Given the description of an element on the screen output the (x, y) to click on. 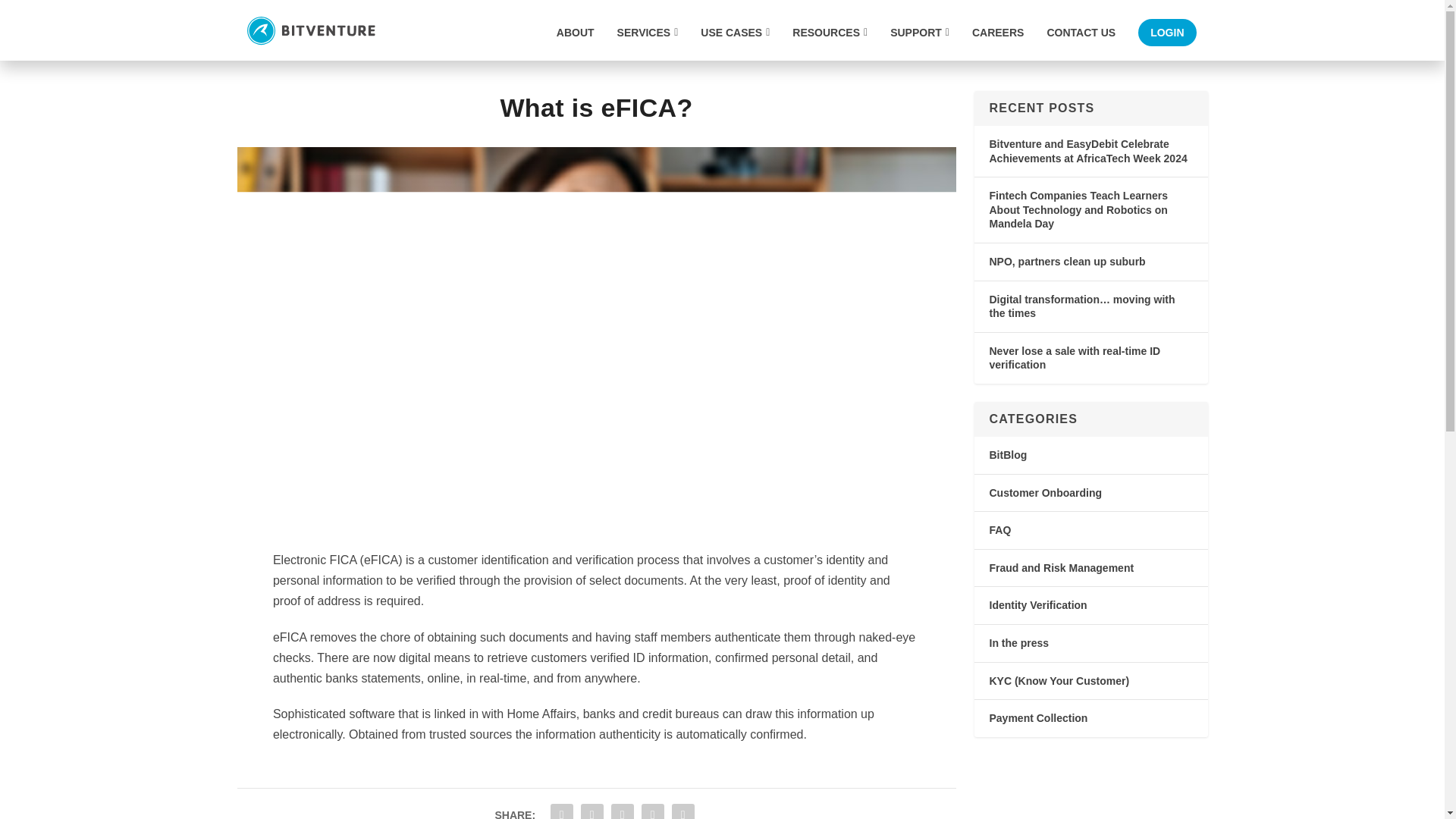
Share "What is eFICA?" via Print (683, 809)
RESOURCES (829, 42)
ABOUT (575, 42)
CAREERS (997, 42)
Share "What is eFICA?" via LinkedIn (622, 809)
SUPPORT (919, 42)
Share "What is eFICA?" via Facebook (561, 809)
SERVICES (647, 42)
Share "What is eFICA?" via Email (652, 809)
LOGIN (1166, 31)
